Given the description of an element on the screen output the (x, y) to click on. 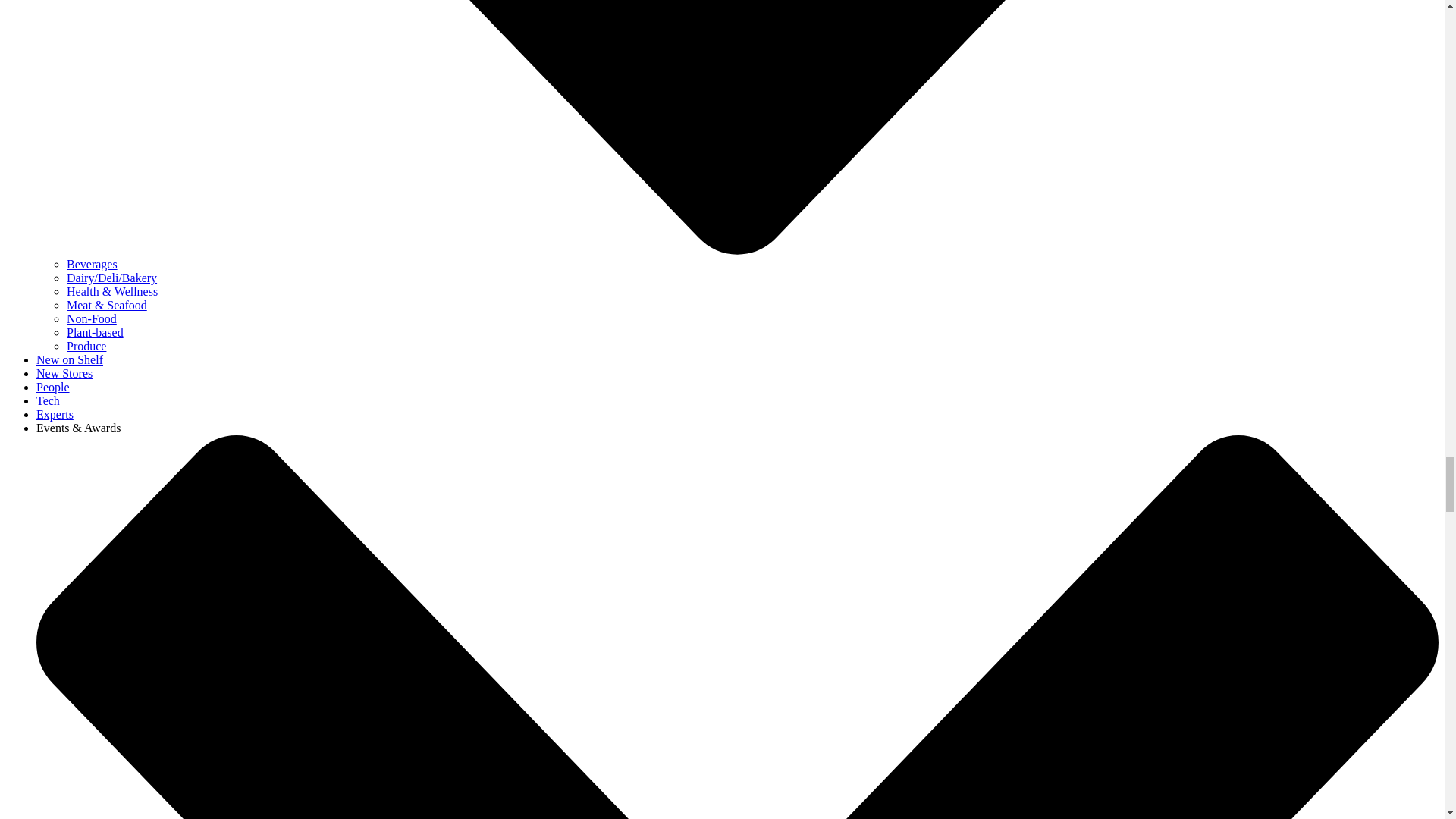
New on Shelf (69, 359)
New Stores (64, 373)
People (52, 386)
Produce (86, 345)
Beverages (91, 264)
Experts (55, 413)
Tech (47, 400)
Non-Food (91, 318)
Plant-based (94, 332)
